Given the description of an element on the screen output the (x, y) to click on. 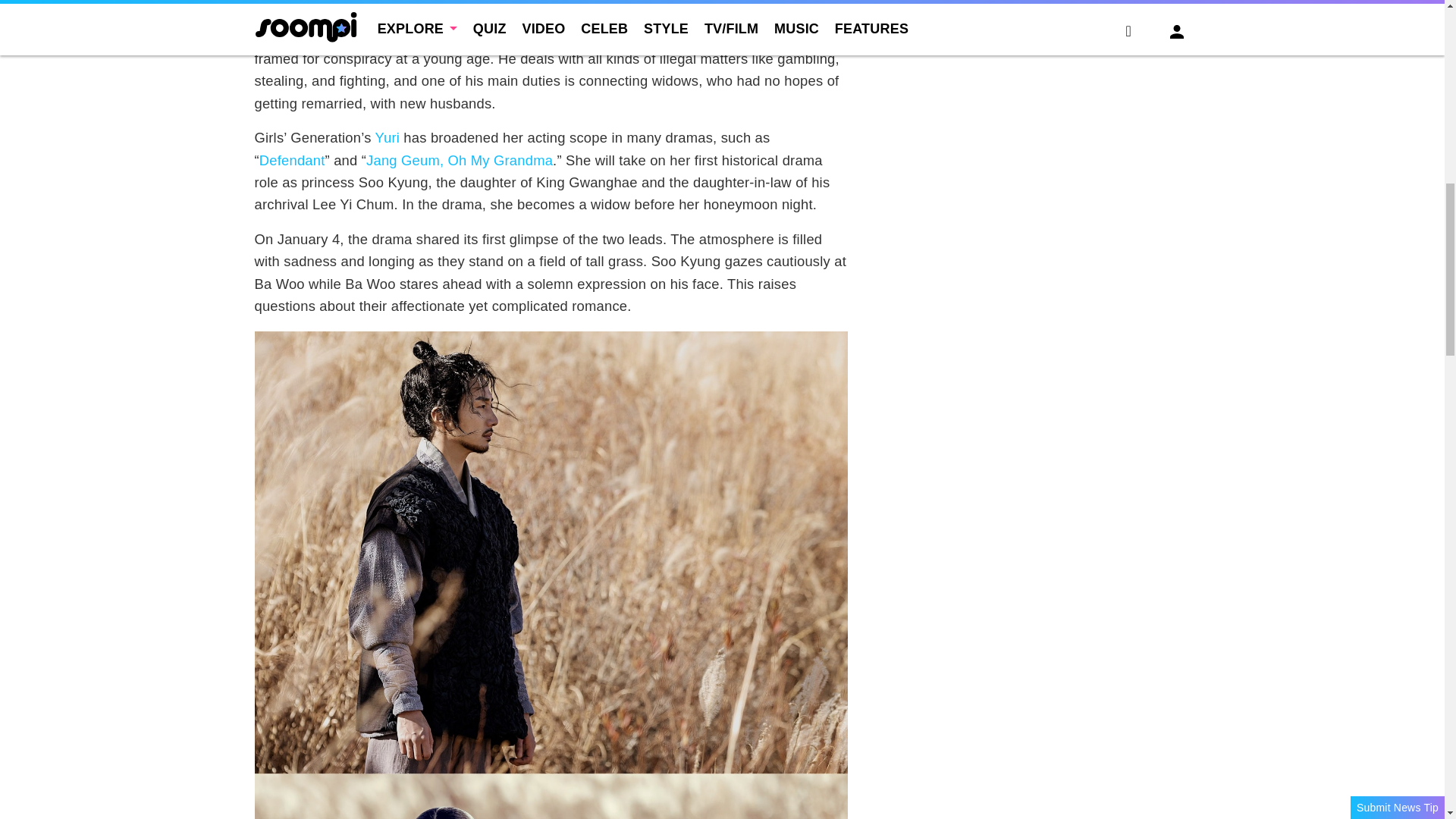
Yuri (387, 137)
Jang Geum, Oh My Grandma (459, 160)
The Moon Embracing the Sun (549, 11)
Defendant (291, 160)
Haechi (438, 13)
